Given the description of an element on the screen output the (x, y) to click on. 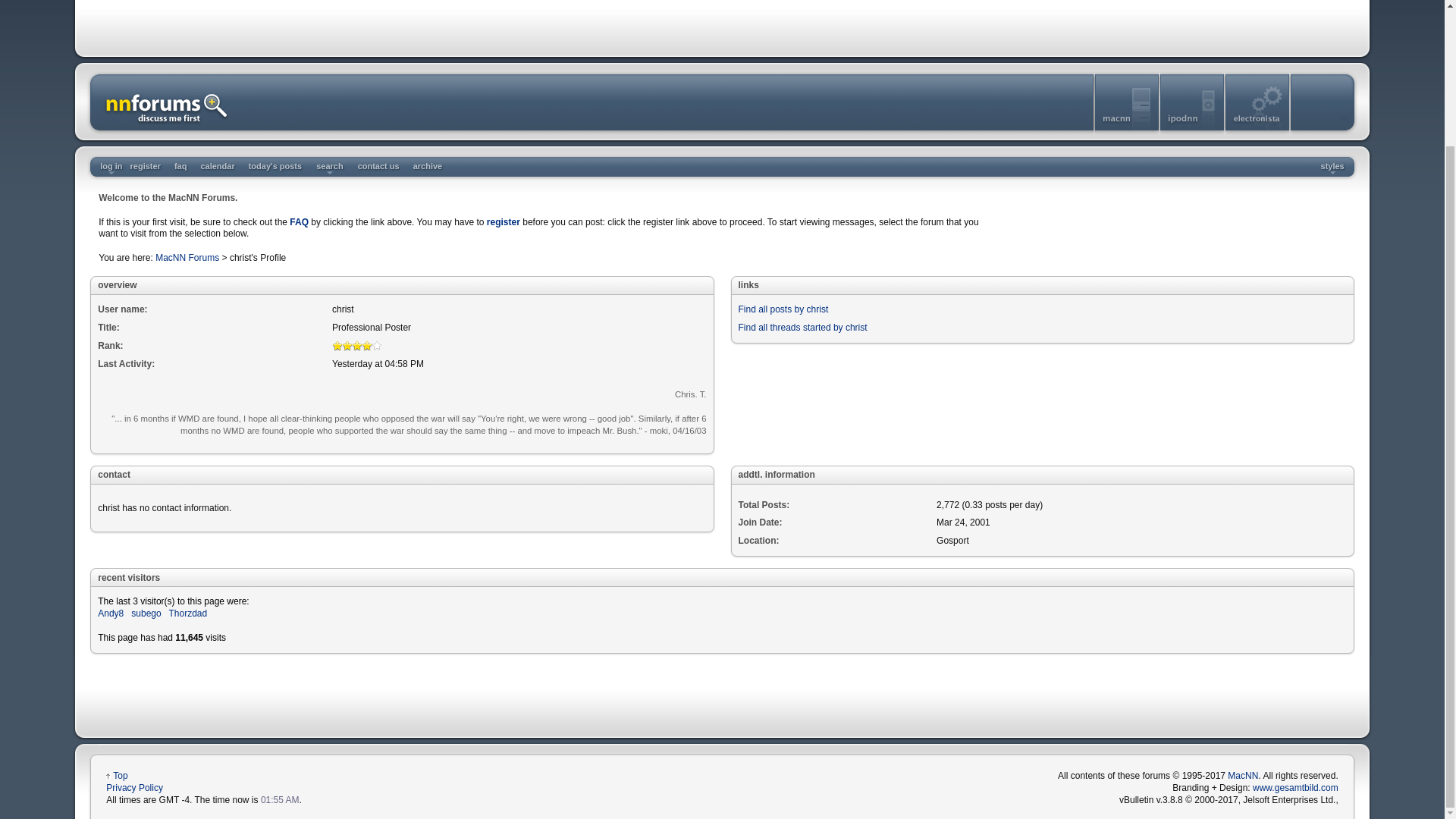
www.gesamtbild.com (1295, 787)
archive (427, 167)
nnforums home page (165, 131)
styles (1331, 165)
subego (145, 613)
search (328, 167)
Andy8 (110, 613)
Privacy Policy (134, 787)
MacNN (1242, 775)
Find all posts by christ (783, 308)
visit ipodnn.com (1192, 131)
faq (180, 167)
log in (111, 165)
visit macnn.com (1126, 131)
MacNN Forums (187, 257)
